Given the description of an element on the screen output the (x, y) to click on. 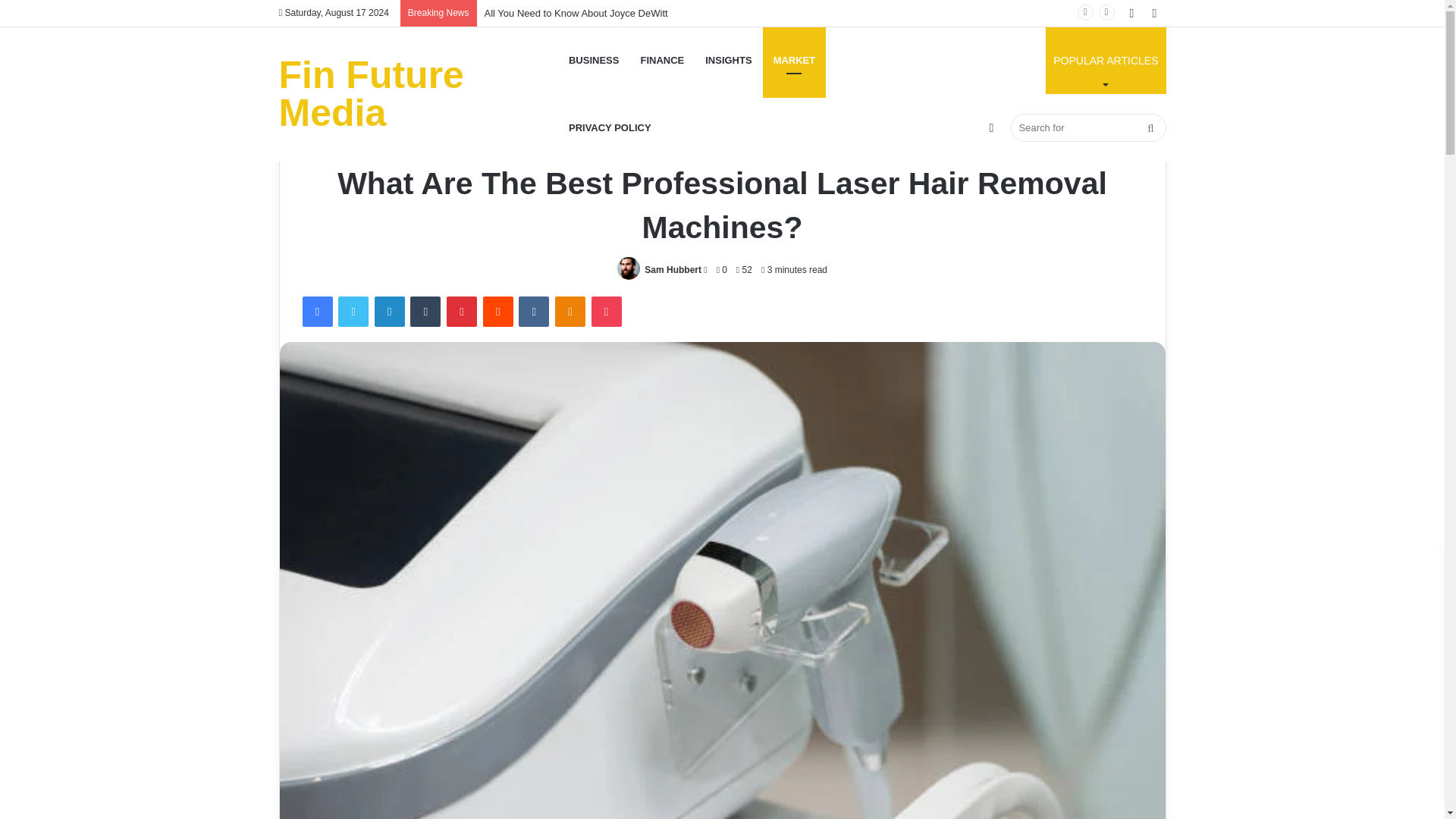
Facebook (316, 311)
Search for (1088, 127)
Facebook (316, 311)
Twitter (352, 311)
Reddit (498, 311)
INSIGHTS (727, 60)
VKontakte (533, 311)
FINANCE (661, 60)
BUSINESS (1105, 60)
